Given the description of an element on the screen output the (x, y) to click on. 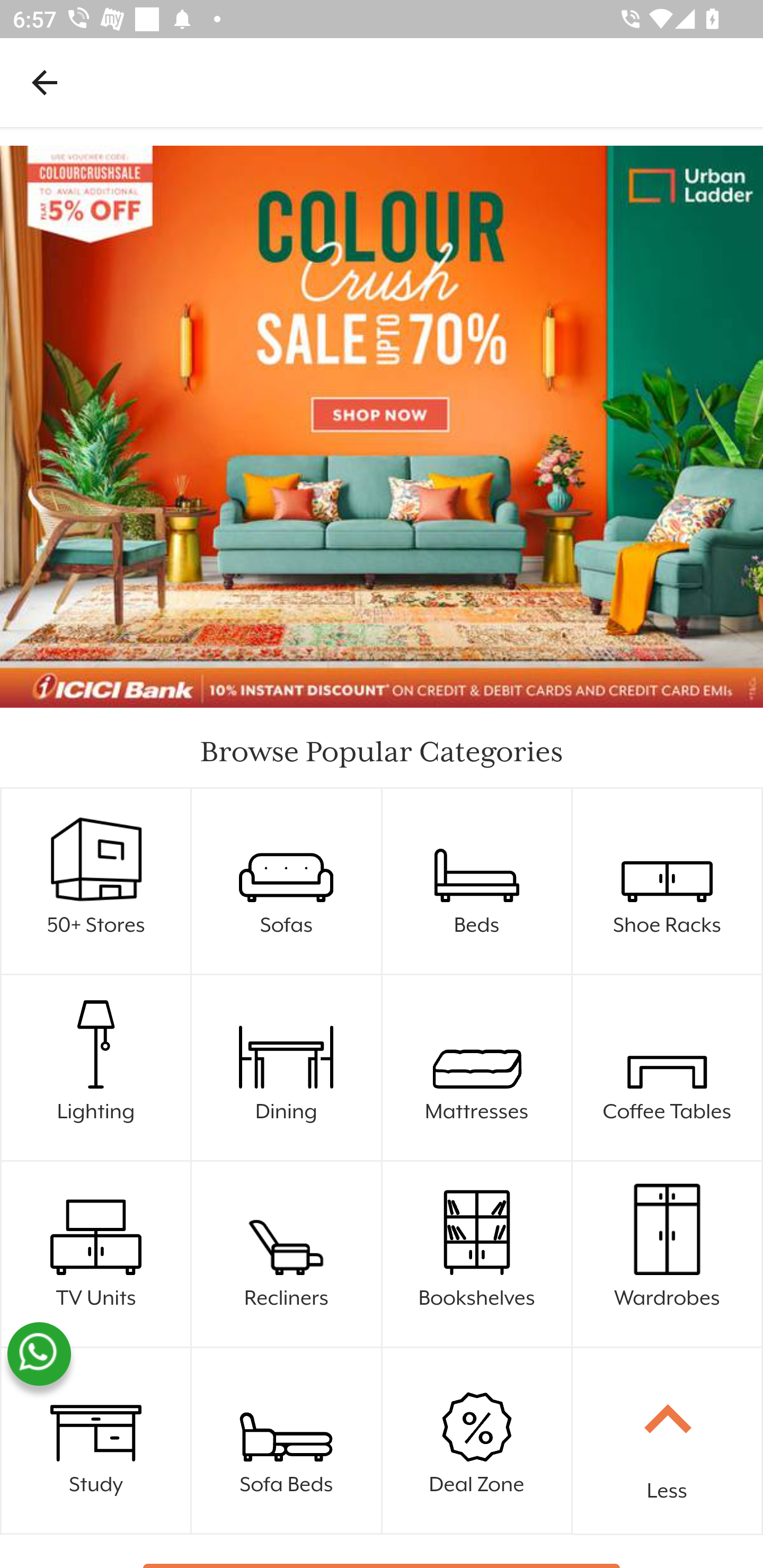
Navigate up (44, 82)
event sale (381, 426)
50+ Stores 50+ Stores 50+ Stores 50+ Stores (96, 881)
Sofas (286, 881)
Beds (477, 881)
Shoe Racks (667, 881)
50+ Stores (95, 855)
Lighting (96, 1067)
Dining (286, 1067)
Mattresses (477, 1067)
Coffee Tables (667, 1067)
TV Units (96, 1254)
Recliners Recliners Recliners Recliners (286, 1254)
Bookshelves (477, 1254)
Wardrobes Wardrobes Wardrobes Wardrobes (667, 1254)
whatsapp (38, 1353)
Study (96, 1440)
Sofa Beds (286, 1440)
Less (667, 1440)
